Given the description of an element on the screen output the (x, y) to click on. 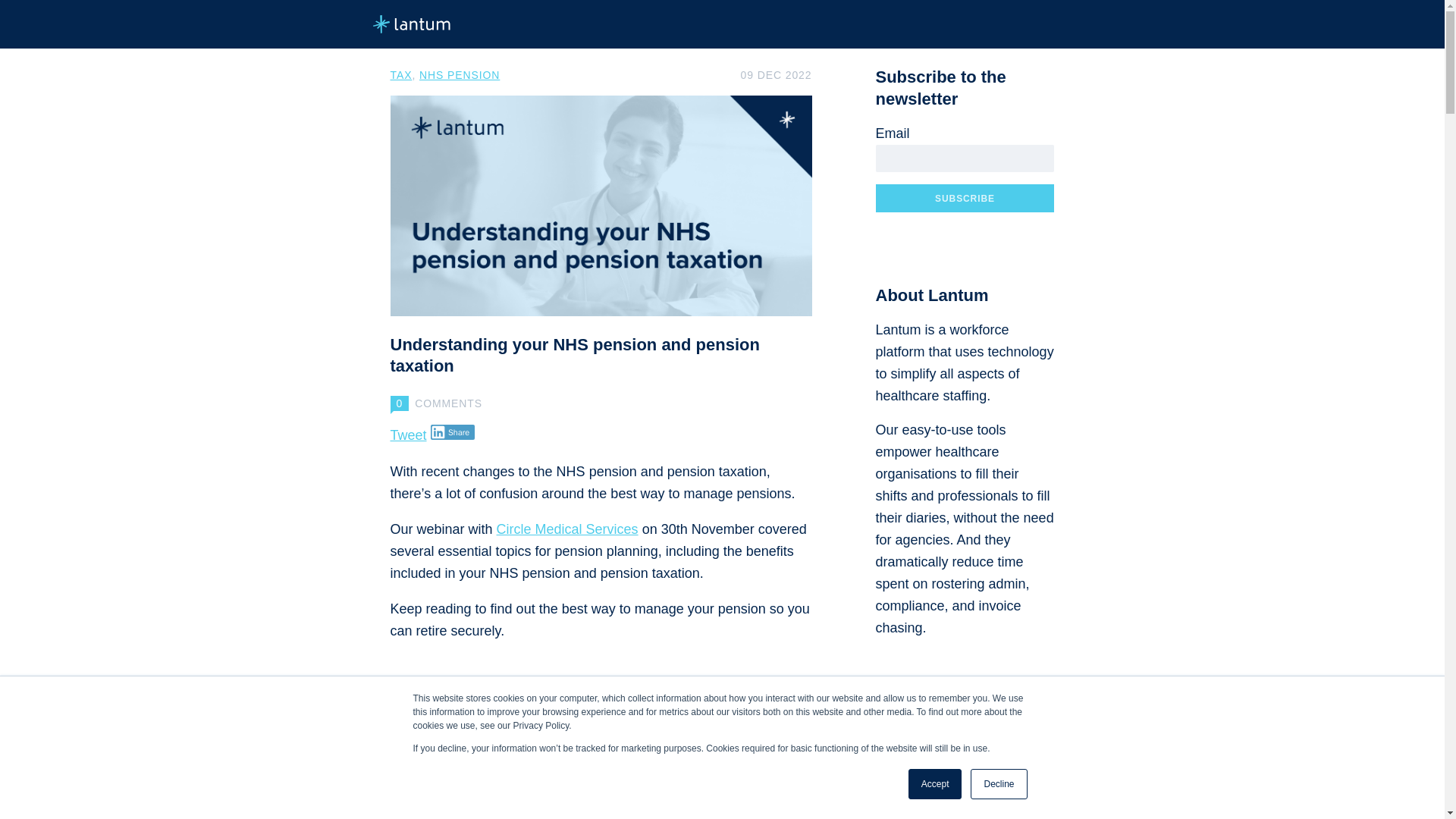
Subscribe (964, 198)
Getting work (1008, 796)
Mindfulness and burnout (971, 769)
TAX (401, 74)
Opinion (893, 796)
Decline (998, 784)
Share (453, 432)
Circle Medical Services (567, 529)
NHS (886, 769)
Tweet (408, 435)
